Given the description of an element on the screen output the (x, y) to click on. 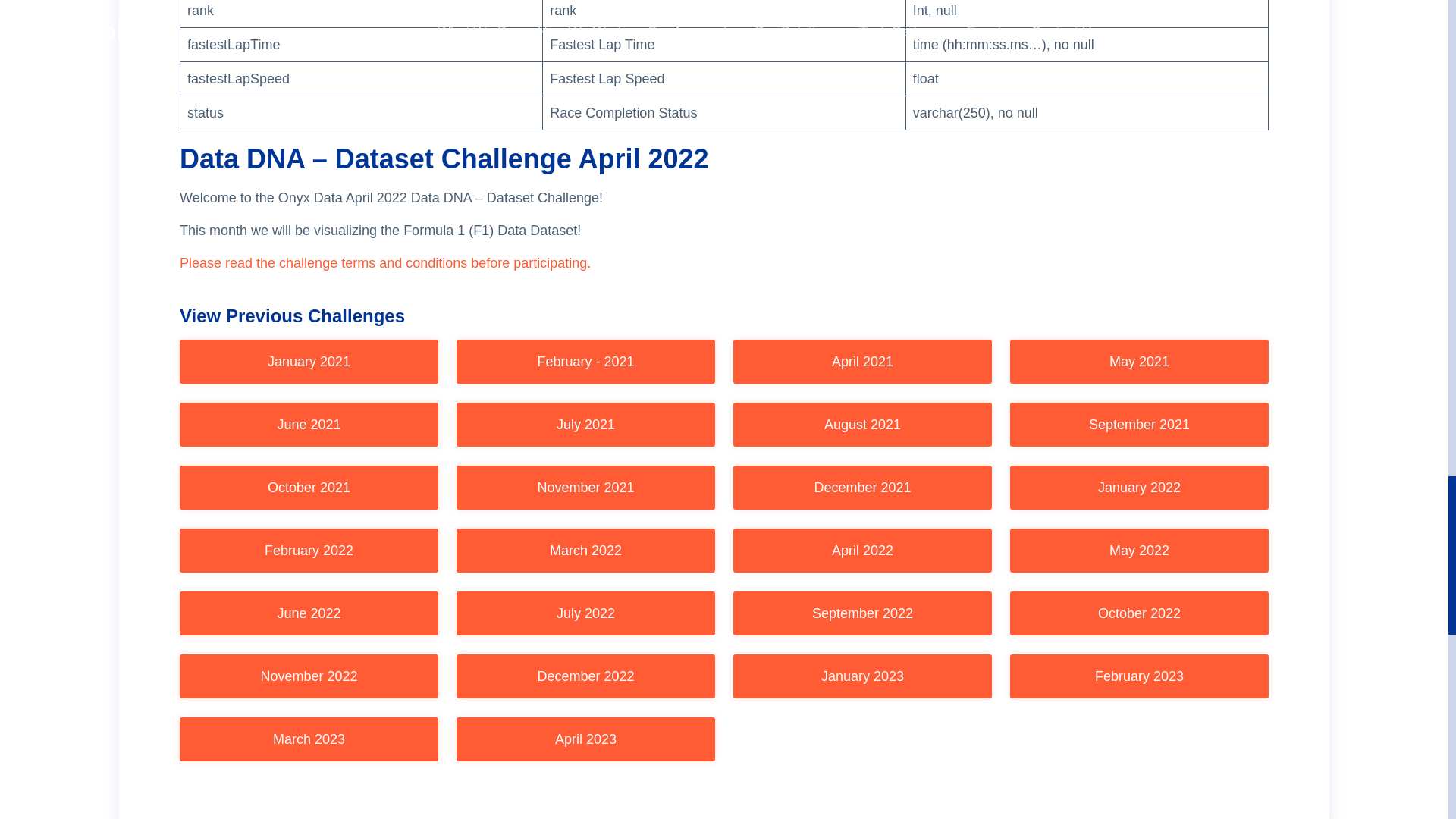
September 2021 (1139, 424)
March 2022 (585, 550)
February 2022 (308, 550)
May 2021 (1139, 361)
August 2021 (862, 424)
July 2021 (585, 424)
November 2022 (308, 676)
April 2022 (862, 550)
April 2021 (862, 361)
January 2021 (308, 361)
December 2022 (585, 676)
May 2022 (1139, 550)
April 2023 (585, 739)
February 2023 (1139, 676)
January 2022 (1139, 487)
